Given the description of an element on the screen output the (x, y) to click on. 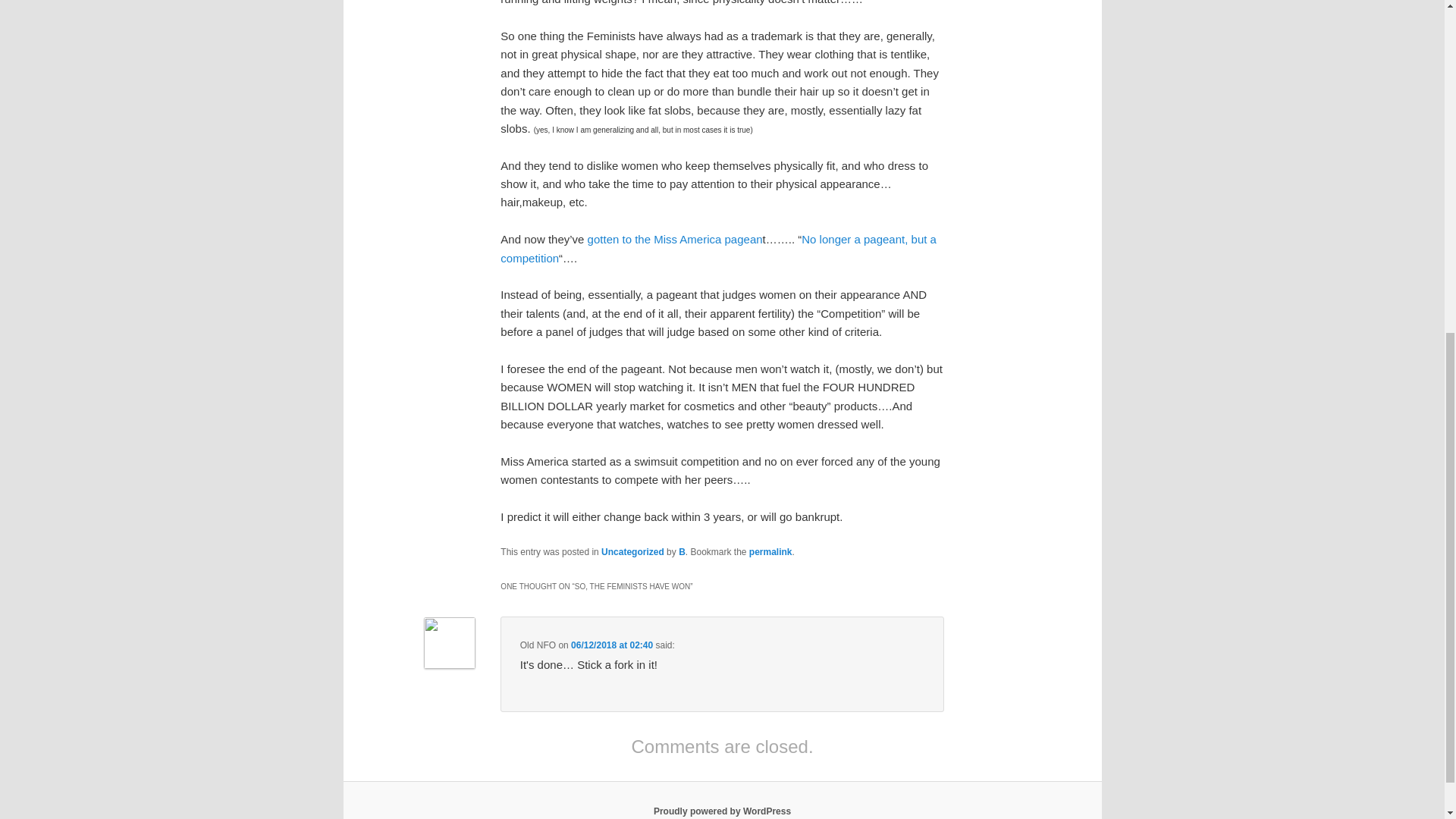
Permalink to SO, the feminists have won (770, 552)
Uncategorized (632, 552)
permalink (770, 552)
B (681, 552)
No longer a pageant, but a competition (718, 247)
Proudly powered by WordPress (721, 810)
Semantic Personal Publishing Platform (721, 810)
gotten to the Miss America pagean (675, 238)
